Given the description of an element on the screen output the (x, y) to click on. 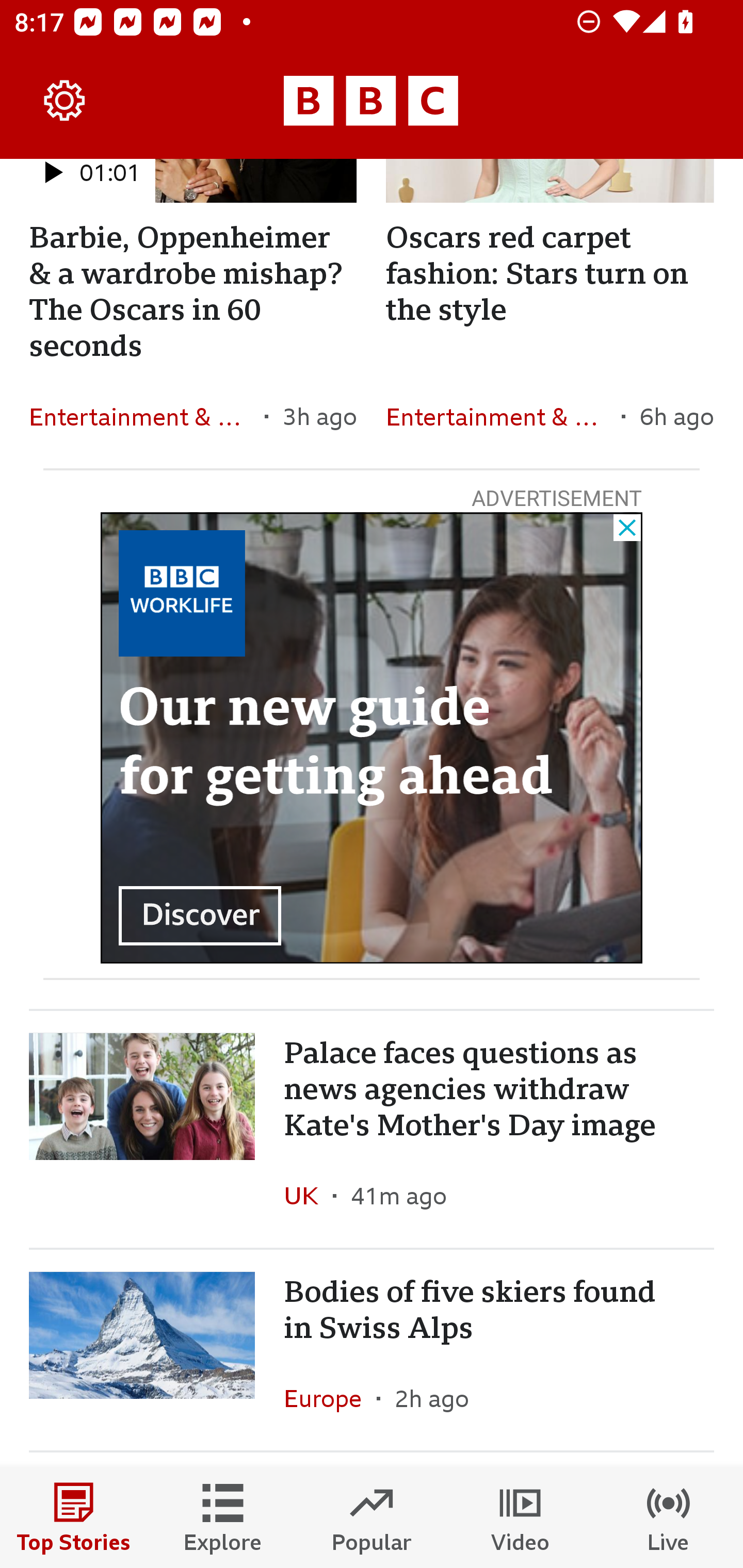
Settings (64, 100)
UK In the section UK (307, 1195)
Europe In the section Europe (329, 1398)
Explore (222, 1517)
Popular (371, 1517)
Video (519, 1517)
Live (668, 1517)
